Given the description of an element on the screen output the (x, y) to click on. 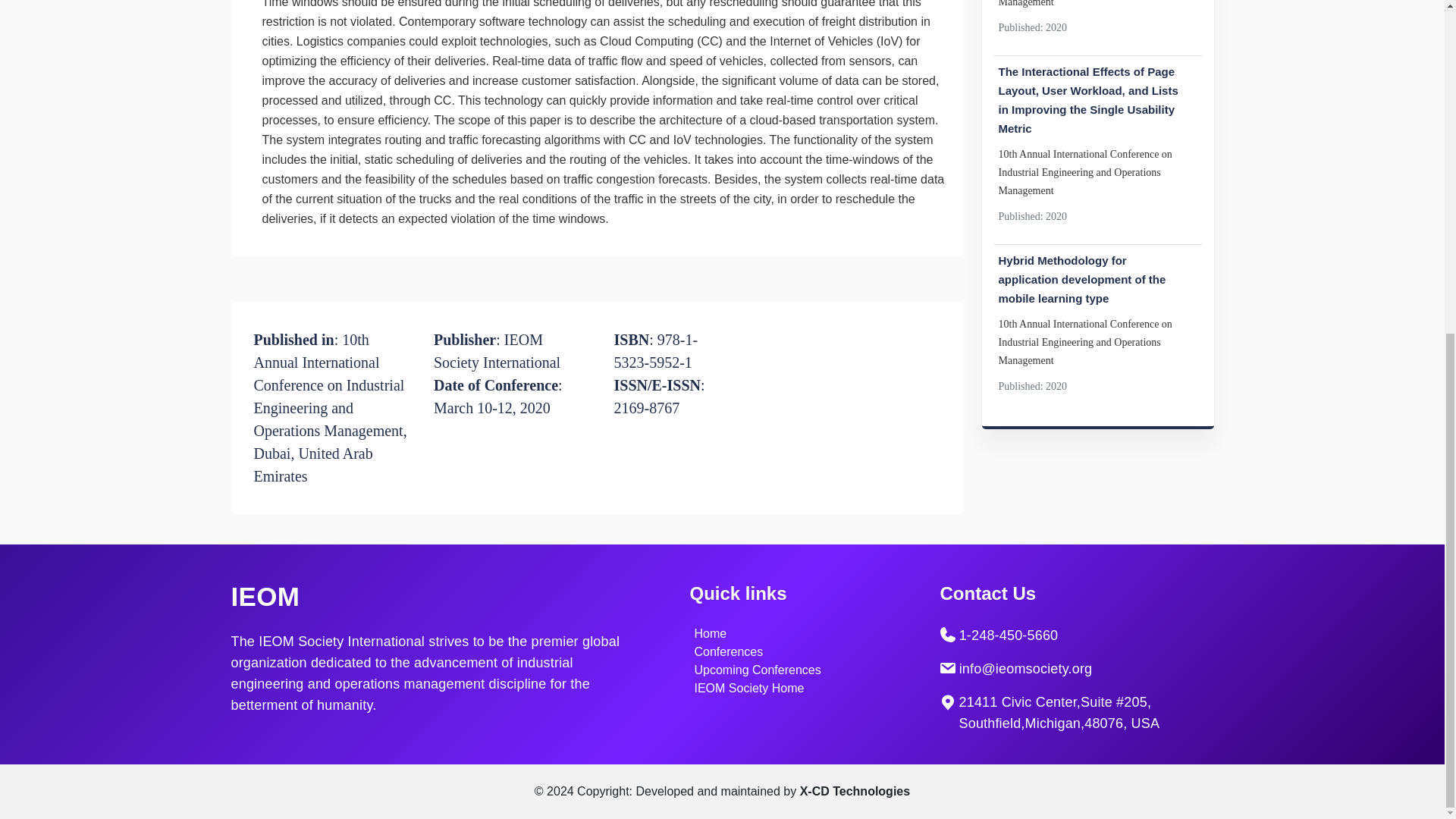
Upcoming Conferences (757, 669)
X-CD Technologies (855, 790)
Home (710, 633)
IEOM Society Home (749, 687)
Conferences (728, 651)
